Given the description of an element on the screen output the (x, y) to click on. 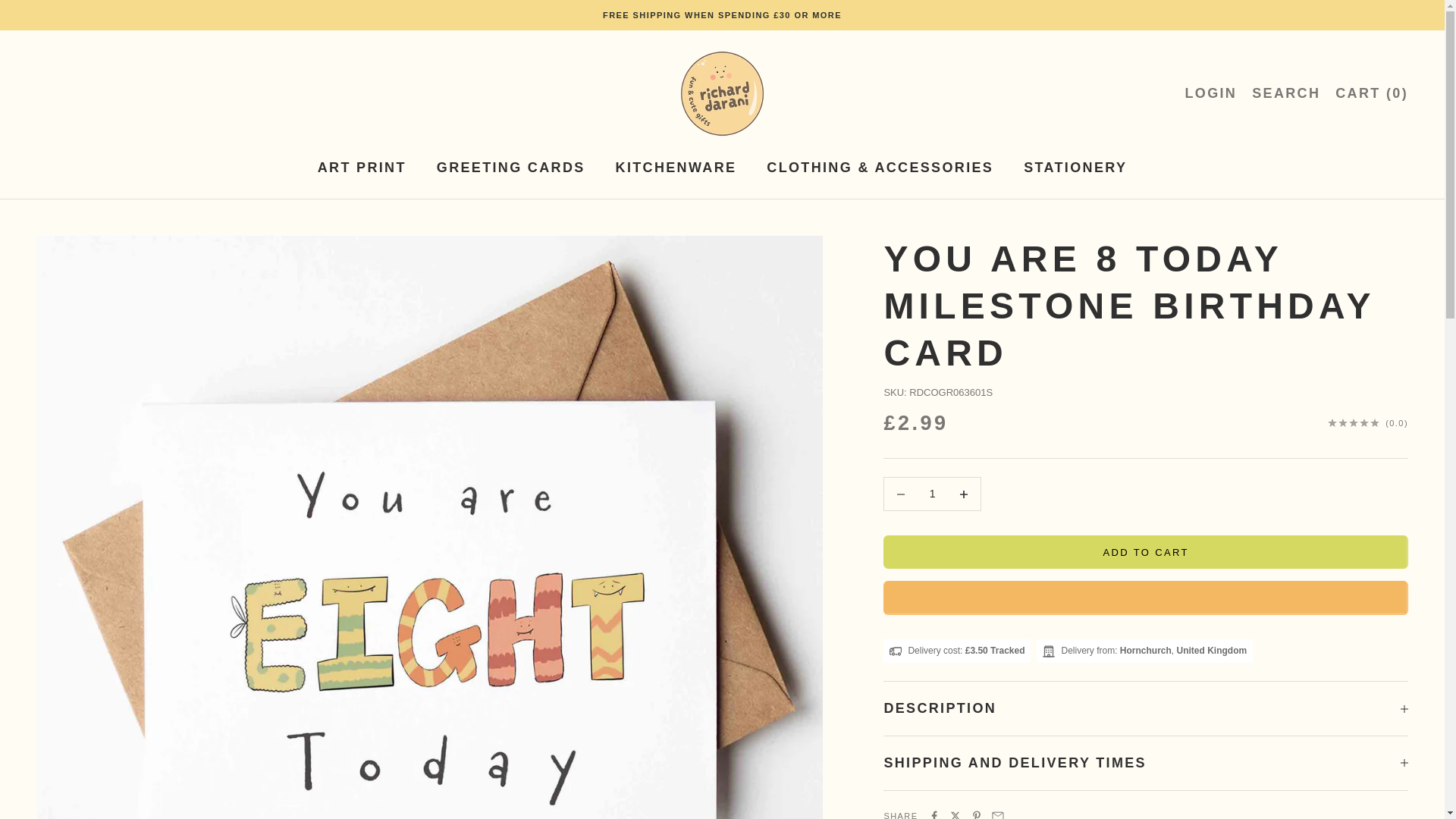
1 (932, 493)
ADD TO CART (1210, 93)
Richard Darani (1145, 551)
Decrease quantity (721, 93)
No reviews (963, 493)
Decrease quantity (1367, 422)
ART PRINT (900, 493)
